Given the description of an element on the screen output the (x, y) to click on. 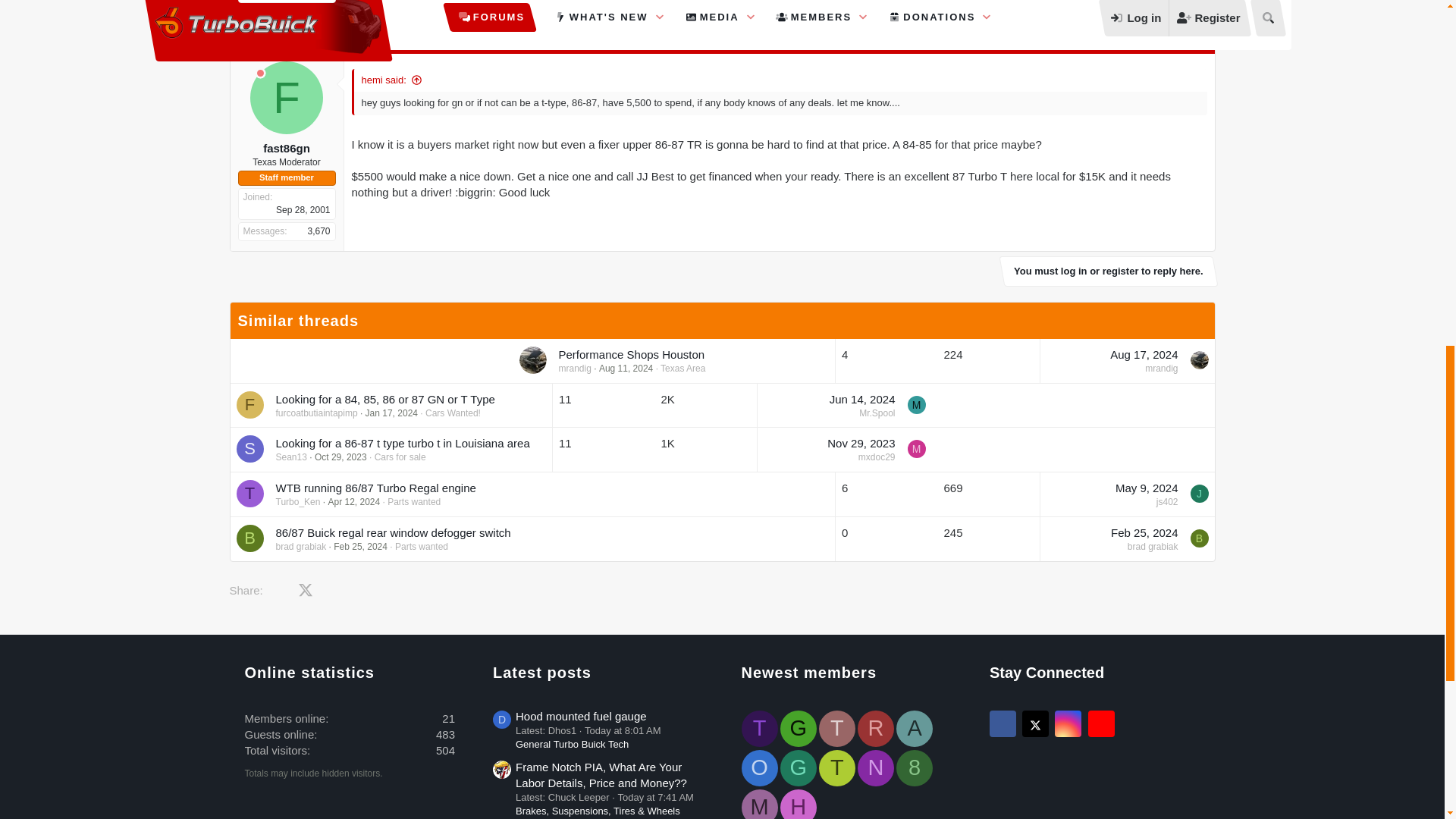
First message reaction score: 0 (706, 449)
Oct 1, 2010 at 3:12 PM (261, 39)
Aug 17, 2024 at 8:03 PM (1143, 354)
Jun 14, 2024 at 9:29 PM (862, 399)
Aug 11, 2024 at 11:53 AM (625, 368)
Jan 17, 2024 at 2:32 PM (391, 412)
First message reaction score: 0 (988, 361)
Nov 29, 2023 at 12:32 PM (861, 442)
Oct 29, 2023 at 7:03 PM (340, 457)
First message reaction score: 0 (886, 361)
